Given the description of an element on the screen output the (x, y) to click on. 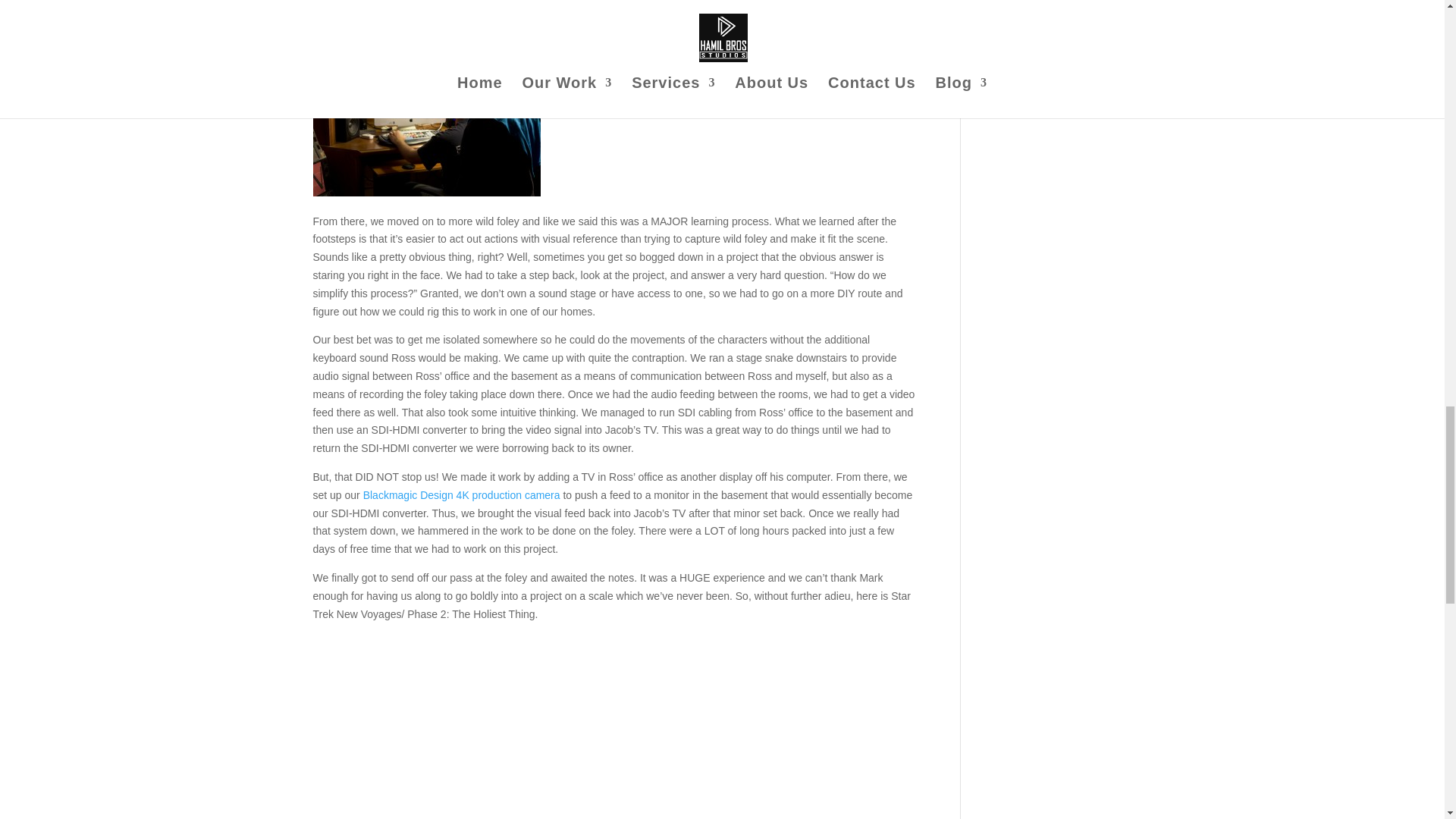
Blackmagic Design 4K production camera (461, 494)
